Given the description of an element on the screen output the (x, y) to click on. 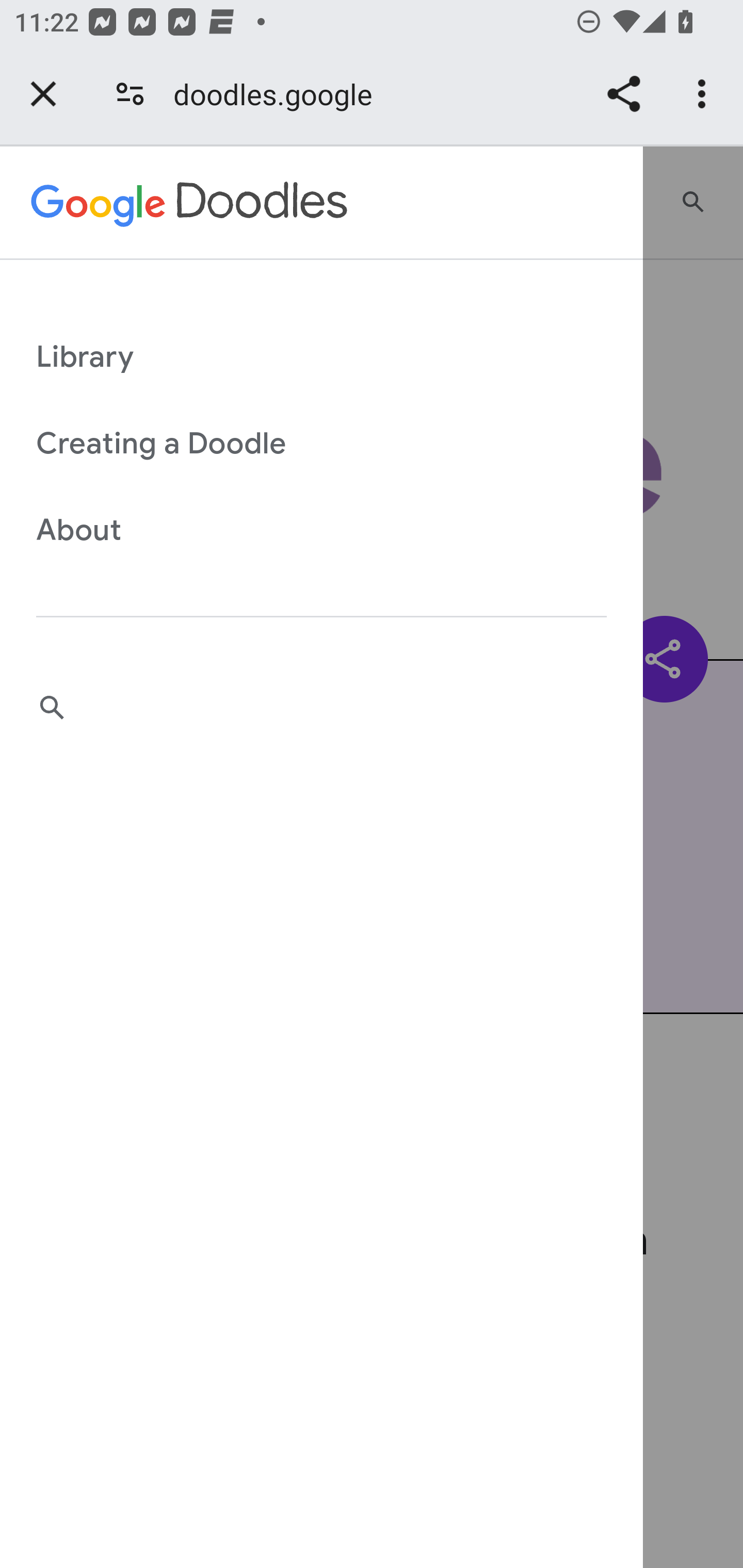
Close tab (43, 93)
Share (623, 93)
Customize and control Google Chrome (705, 93)
Connection is secure (129, 93)
doodles.google (280, 93)
Google doodles (190, 202)
Library (315, 357)
Creating a Doodle (315, 445)
About (315, 531)
Search (315, 707)
